Given the description of an element on the screen output the (x, y) to click on. 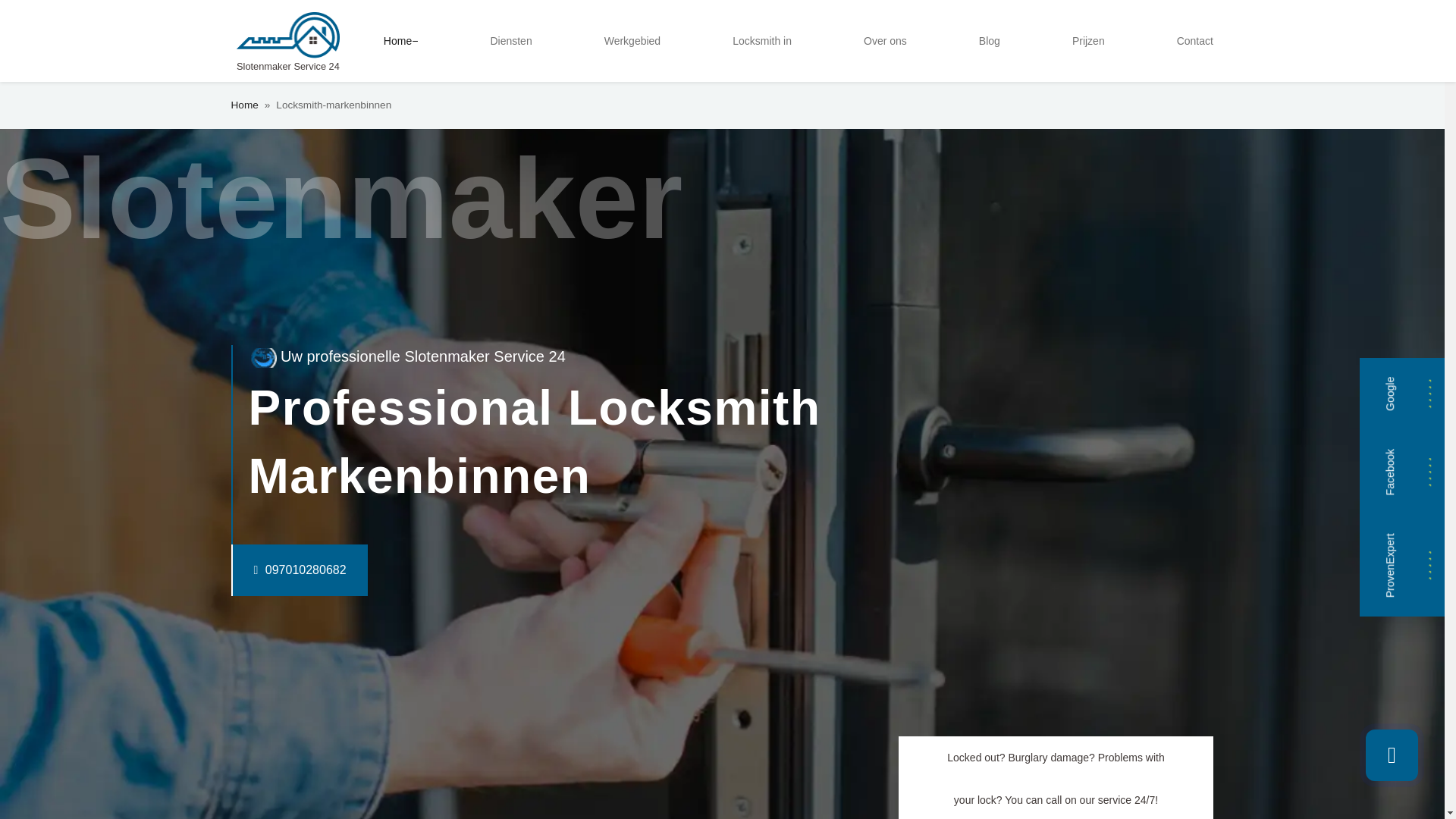
Home (401, 40)
Over ons (884, 40)
Blog (989, 40)
Locksmith in (761, 40)
097010280682 (268, 570)
Home (243, 105)
Diensten (510, 40)
Werkgebied (632, 40)
Contact (1195, 40)
Slotenmaker Service 24 (287, 40)
Prijzen (1087, 40)
